Given the description of an element on the screen output the (x, y) to click on. 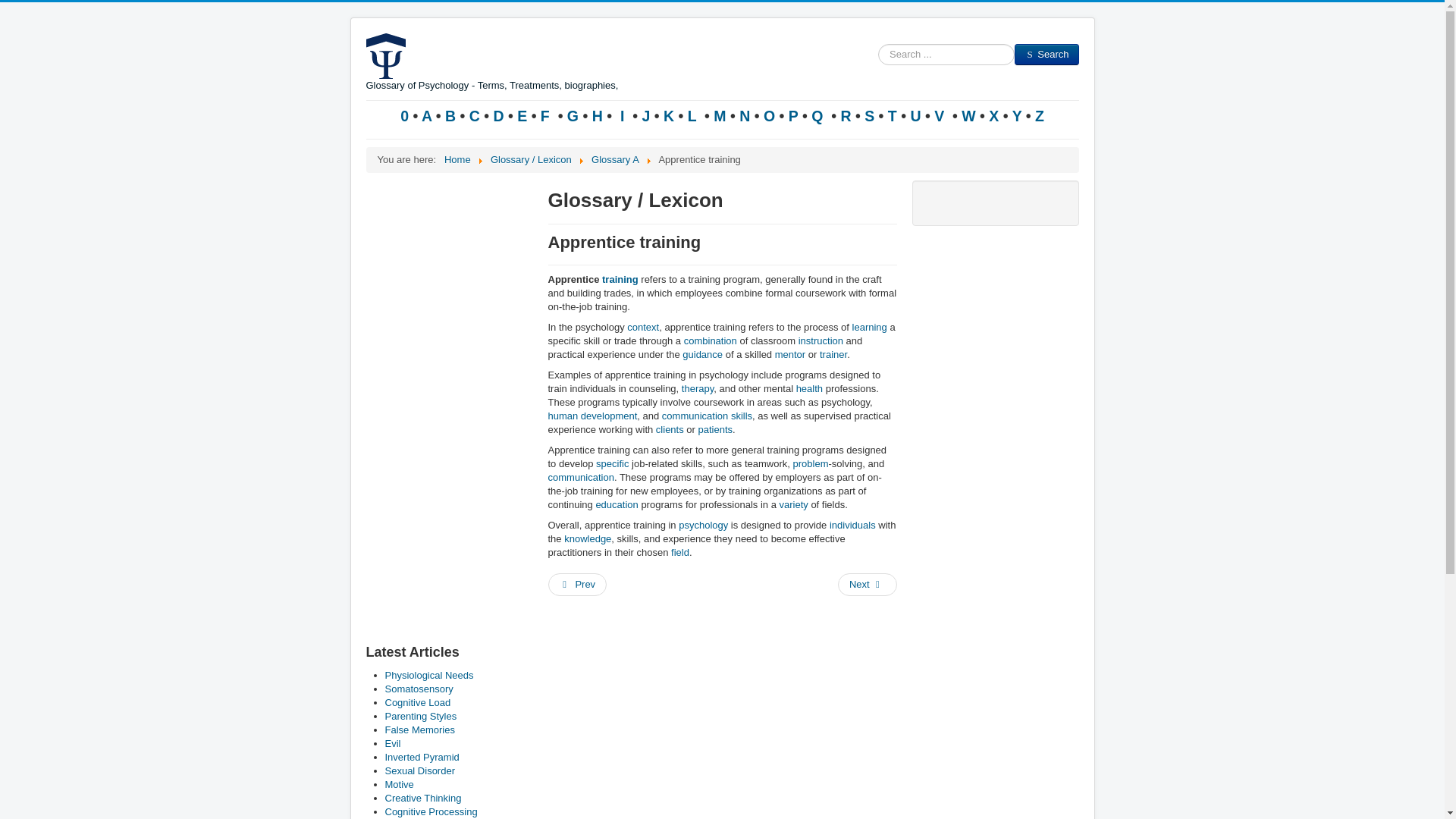
Evil (393, 743)
Cognitive Load (418, 702)
Physiological Needs (429, 674)
Search (1046, 54)
 L   (693, 115)
 S  (869, 115)
Glossary of Psychology - Terms, Treatments, biographies, (491, 62)
Home (457, 159)
 G  (572, 115)
